Given the description of an element on the screen output the (x, y) to click on. 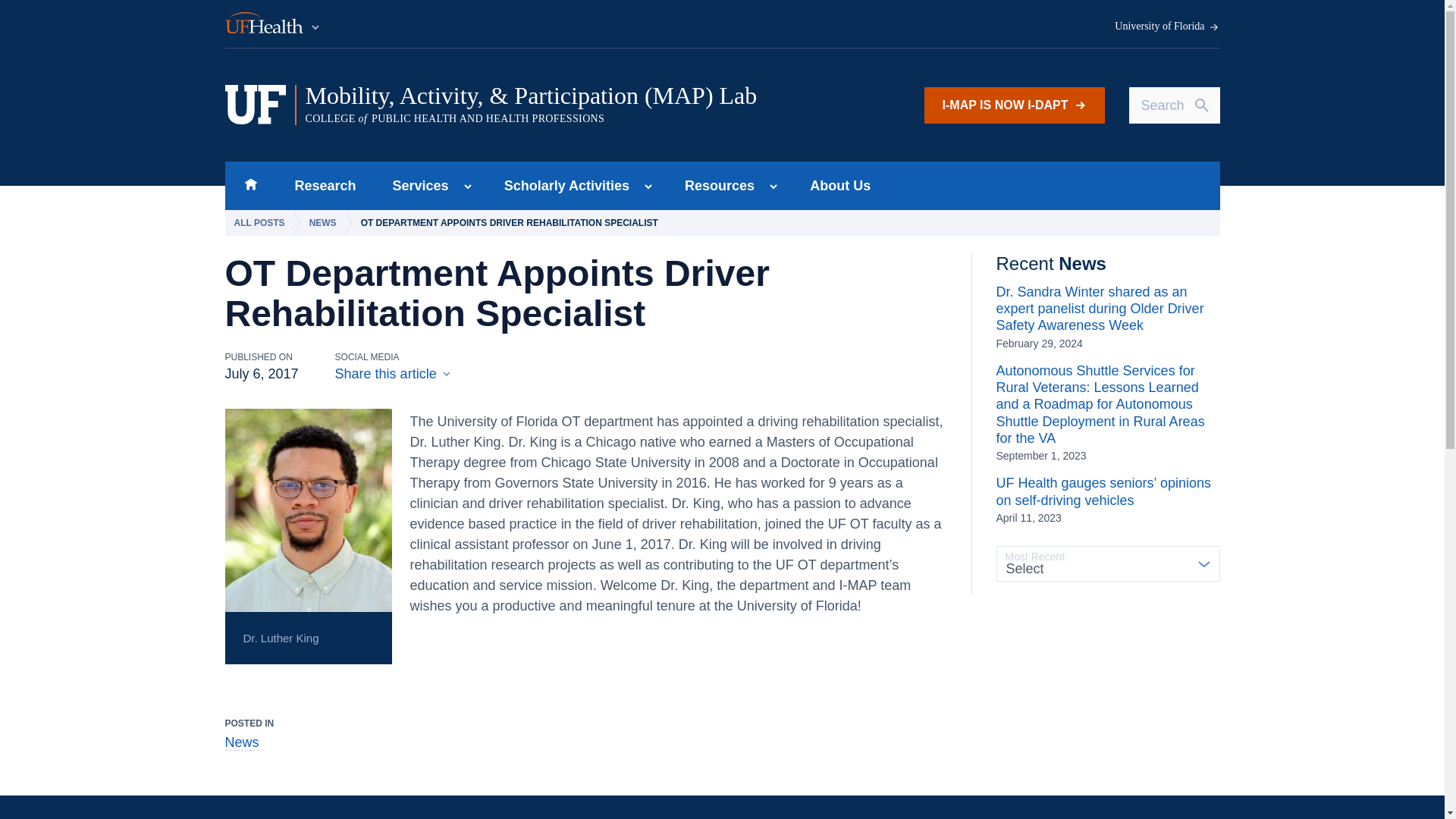
Scholarly Activities (562, 185)
UF Health (272, 24)
University of Florida (1167, 26)
Home (250, 185)
NEWS (325, 222)
Resources (714, 185)
I-MAP IS NOW I-DAPT (1014, 104)
